Given the description of an element on the screen output the (x, y) to click on. 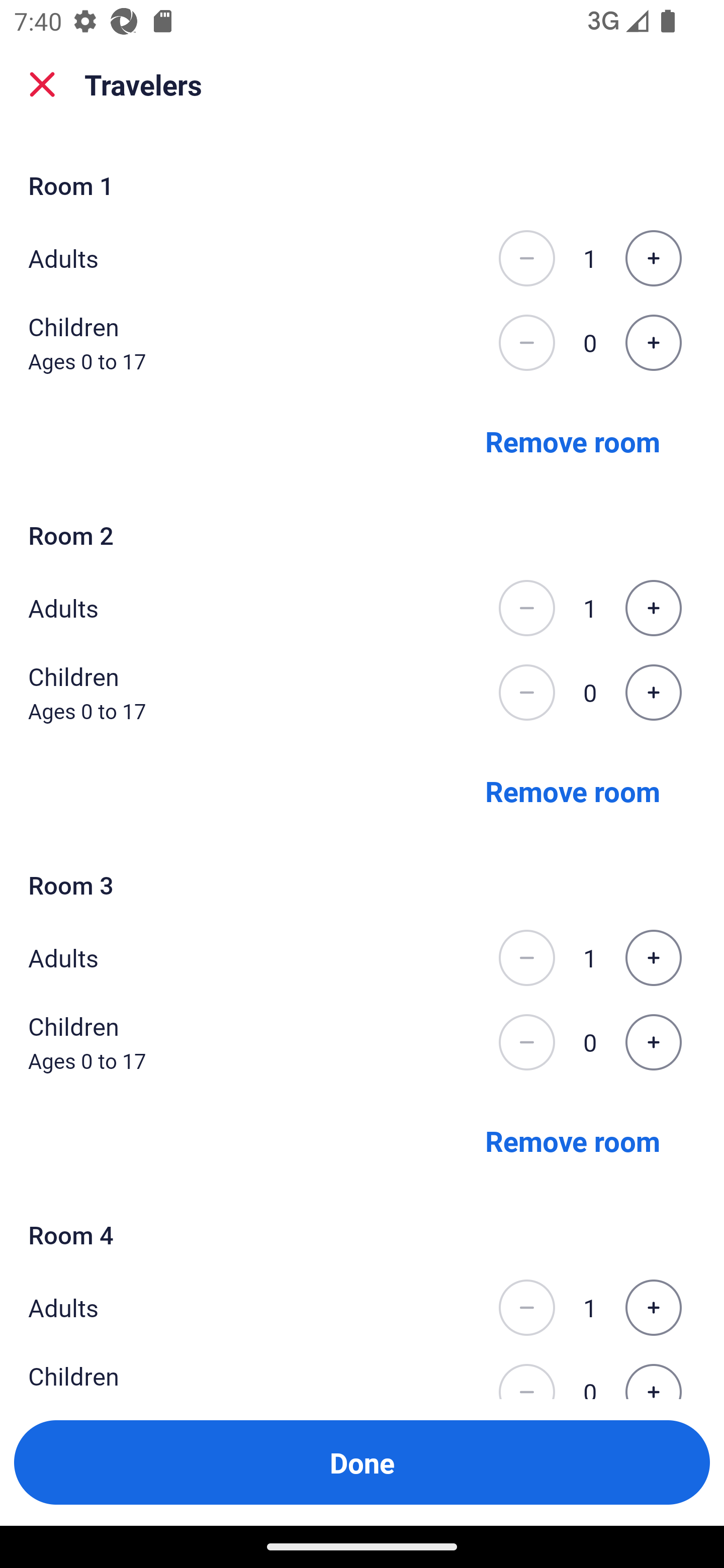
close (42, 84)
Decrease the number of adults (526, 258)
Increase the number of adults (653, 258)
Decrease the number of children (526, 343)
Increase the number of children (653, 343)
Remove room (572, 440)
Decrease the number of adults (526, 608)
Increase the number of adults (653, 608)
Decrease the number of children (526, 692)
Increase the number of children (653, 692)
Remove room (572, 790)
Decrease the number of adults (526, 957)
Increase the number of adults (653, 957)
Decrease the number of children (526, 1042)
Increase the number of children (653, 1042)
Remove room (572, 1140)
Decrease the number of adults (526, 1307)
Increase the number of adults (653, 1307)
Decrease the number of children (526, 1374)
Increase the number of children (653, 1374)
Done (361, 1462)
